Given the description of an element on the screen output the (x, y) to click on. 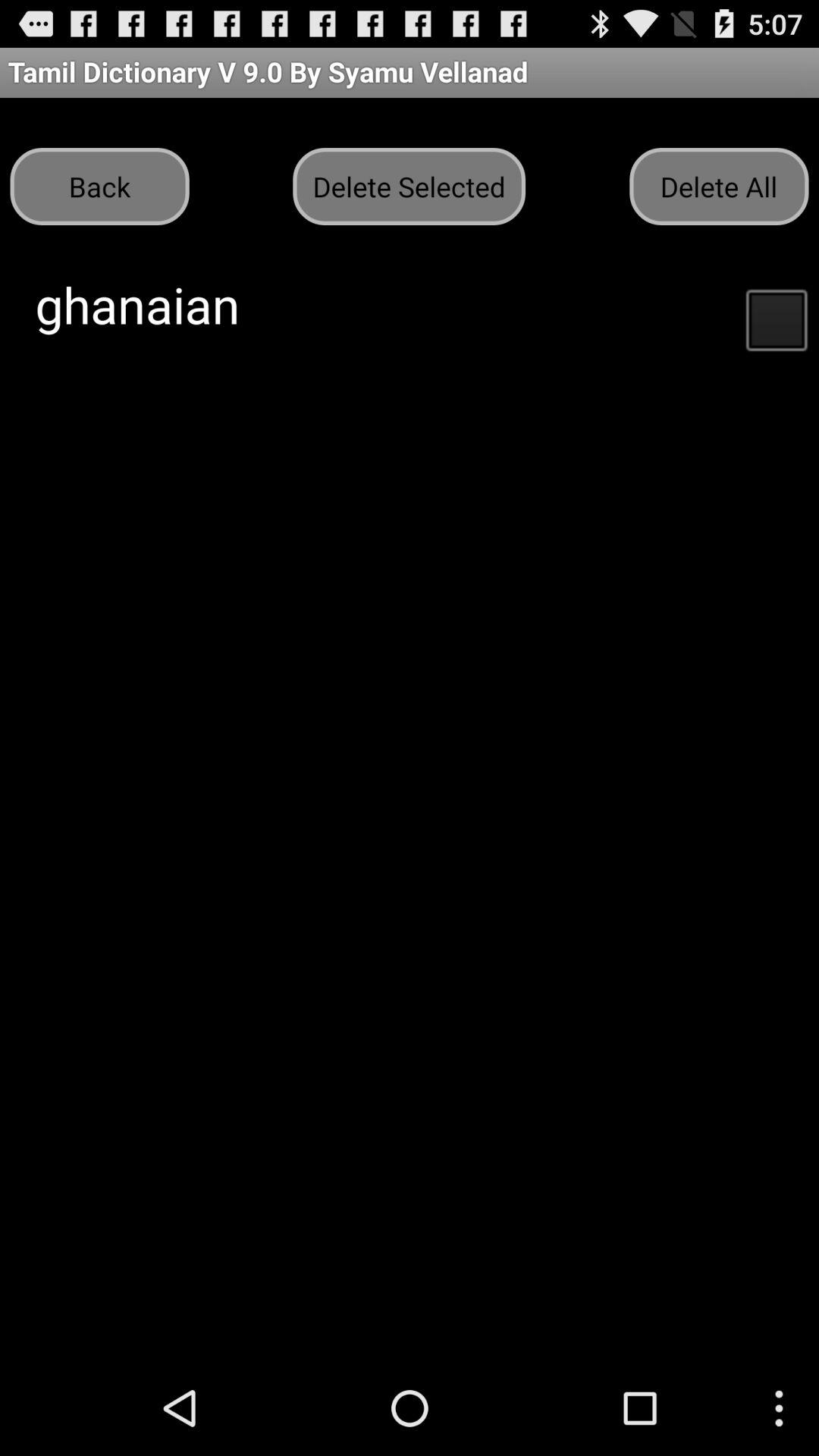
click the icon next to the delete all item (408, 186)
